Given the description of an element on the screen output the (x, y) to click on. 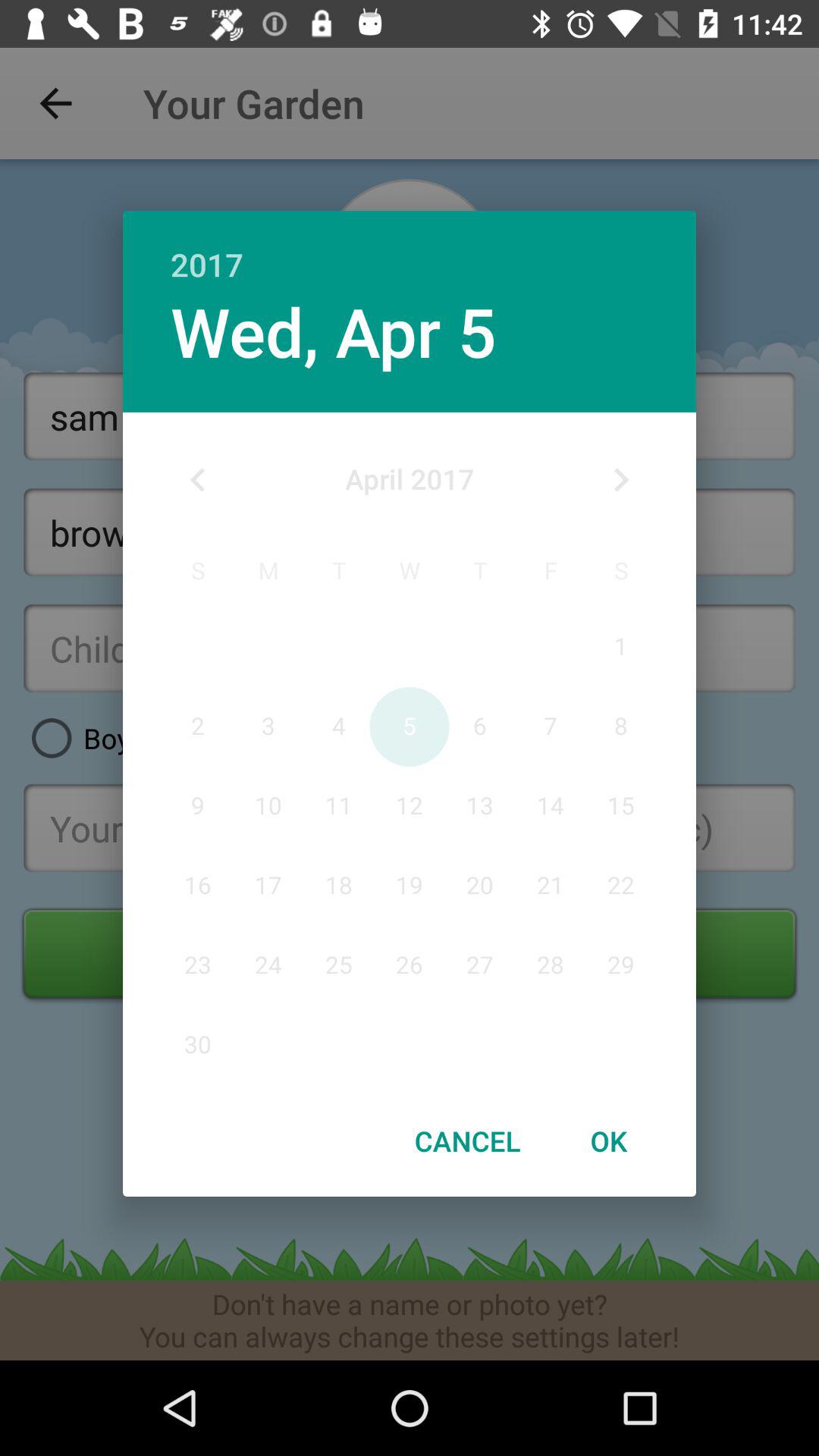
choose cancel at the bottom (467, 1140)
